Given the description of an element on the screen output the (x, y) to click on. 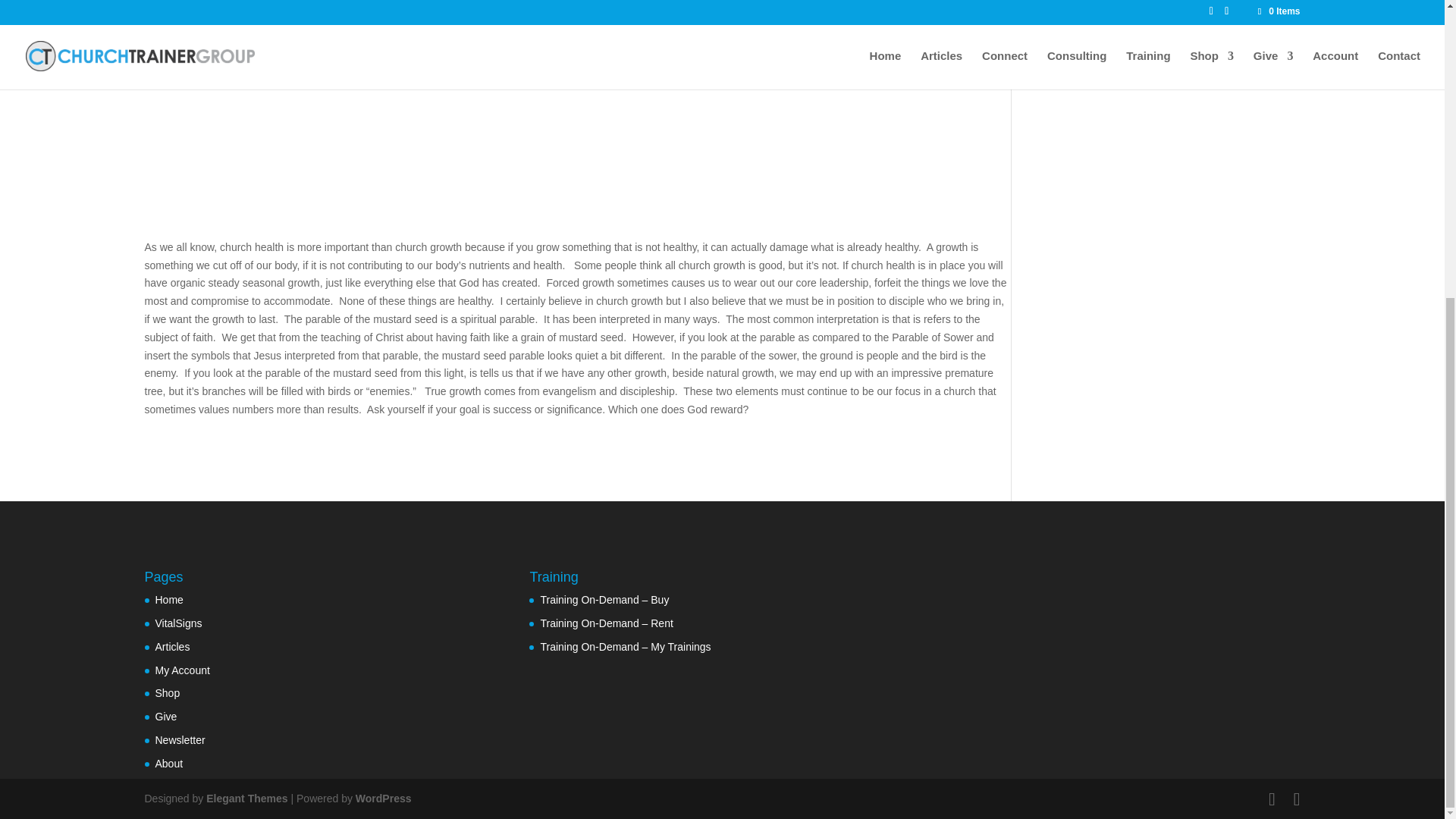
Home (168, 599)
Premium WordPress Themes (246, 798)
About (168, 763)
Newsletter (179, 739)
WordPress (383, 798)
Elegant Themes (246, 798)
Give (165, 716)
My Account (181, 670)
VitalSigns (178, 623)
Shop (166, 693)
